Given the description of an element on the screen output the (x, y) to click on. 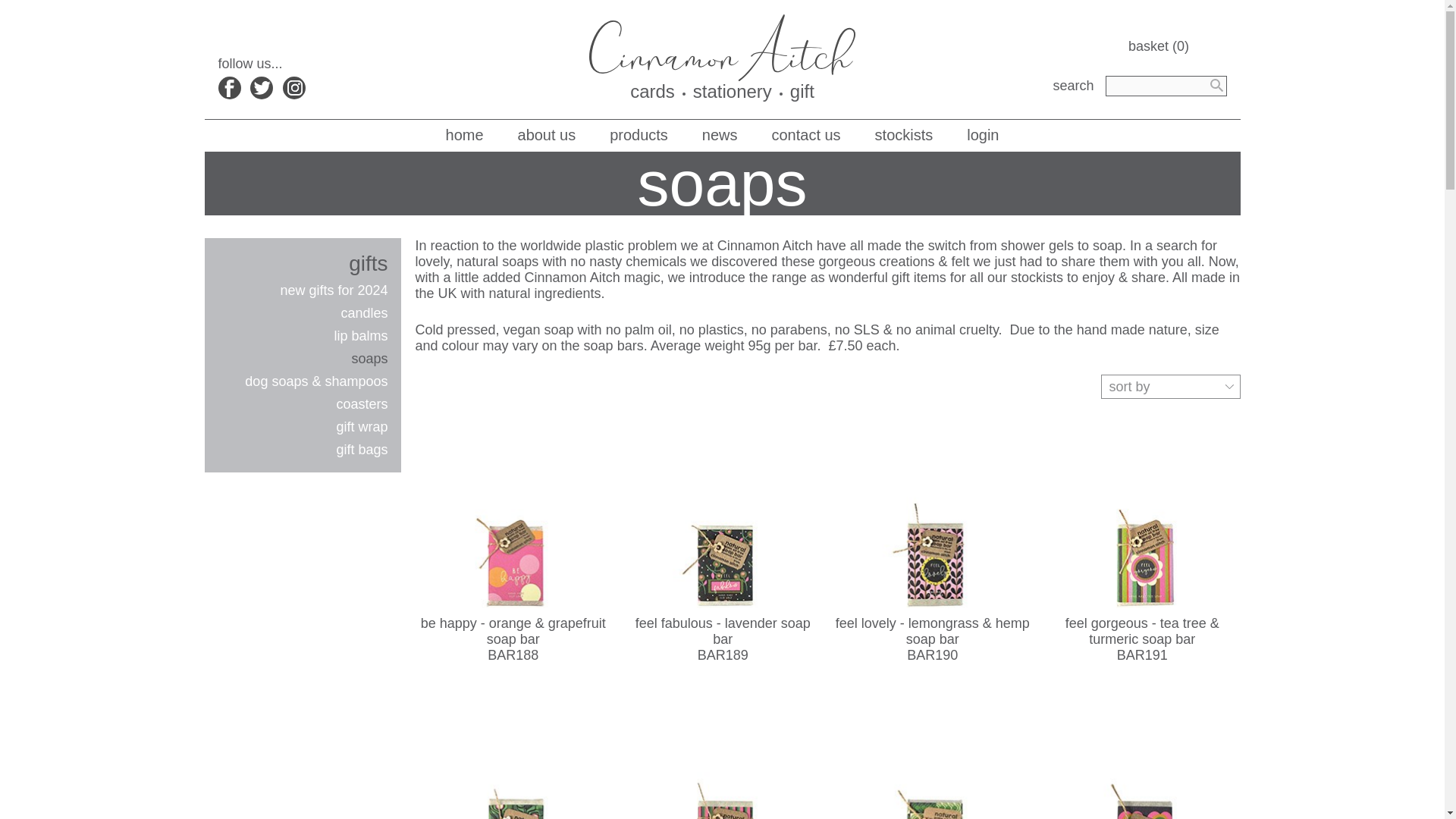
View Basket (1177, 46)
home (464, 135)
news (719, 135)
large flower - rose geranium soap bar (1141, 753)
contact us (806, 135)
Instagram (293, 87)
Twitter (261, 87)
products (639, 135)
Facebook (229, 87)
about us (547, 135)
